Given the description of an element on the screen output the (x, y) to click on. 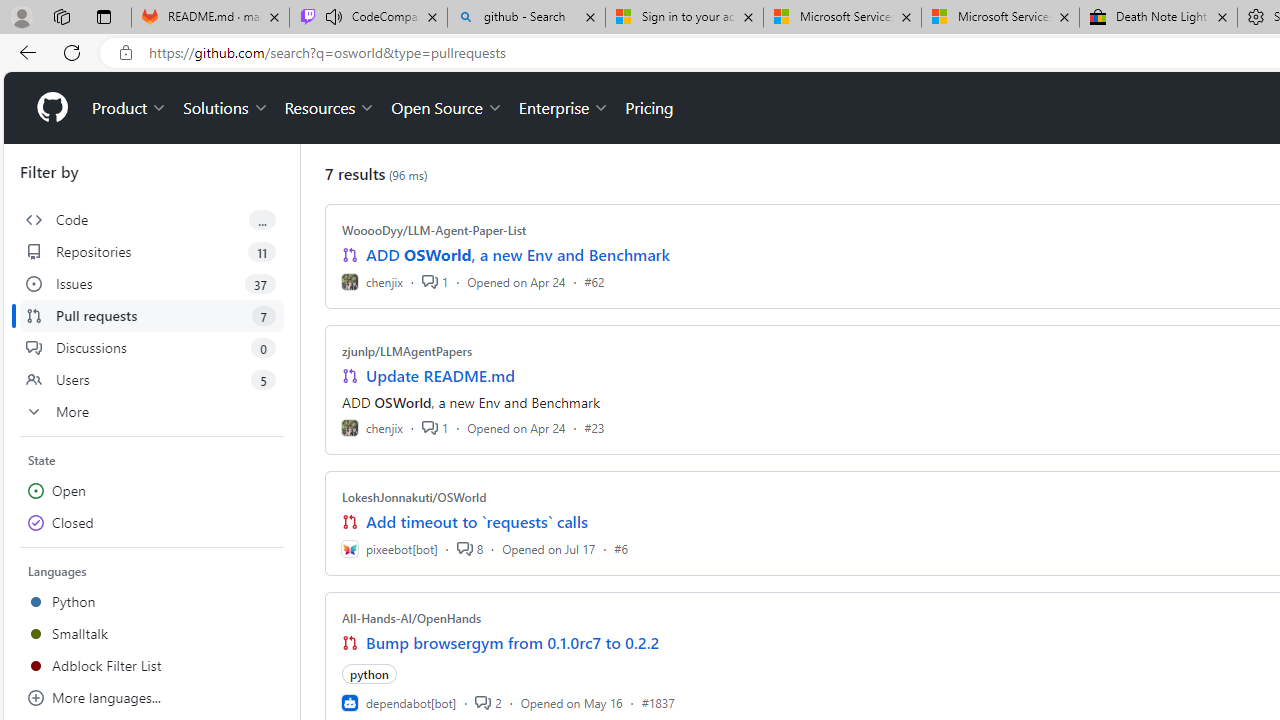
Product (130, 107)
dependabot[bot] (398, 702)
8 (469, 548)
#23 (594, 427)
All-Hands-AI/OpenHands (411, 618)
zjunlp/LLMAgentPapers (407, 351)
Open Source (446, 107)
